Given the description of an element on the screen output the (x, y) to click on. 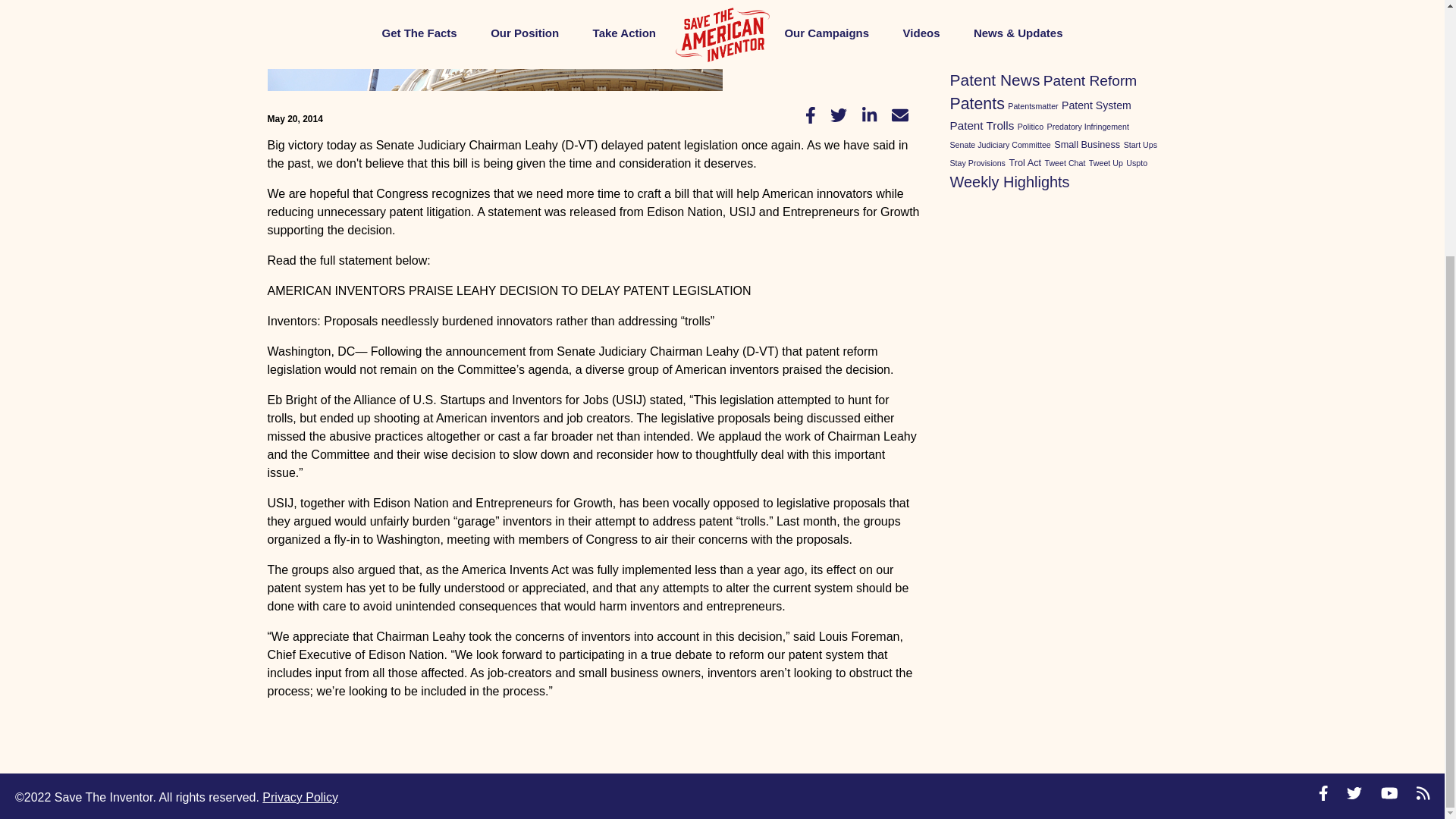
Patent (967, 34)
Inventing To Nowhere (988, 2)
Non Practicing Entities (1066, 17)
Inventor Highlights (1063, 2)
Npe (1117, 16)
Inventors (1123, 2)
Panel (1141, 17)
Patent Highlights (1031, 34)
Investors (965, 17)
Mark Up (1003, 16)
